Given the description of an element on the screen output the (x, y) to click on. 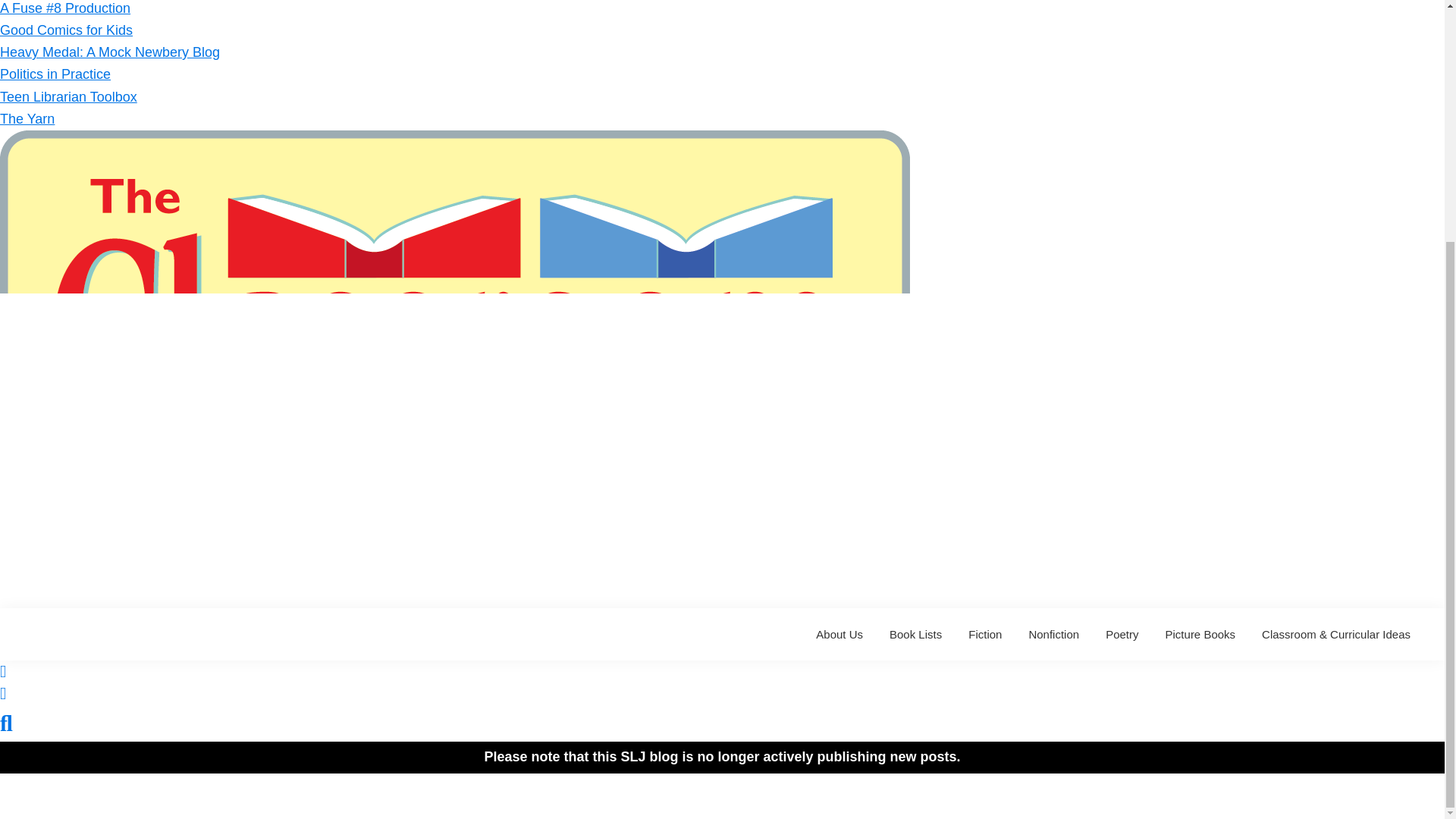
Nonfiction (1053, 634)
Teen Librarian Toolbox (68, 96)
About Us (840, 634)
The Yarn (27, 118)
Politics in Practice (55, 73)
Heavy Medal: A Mock Newbery Blog (109, 52)
Book Lists (915, 634)
Fiction (984, 634)
Good Comics for Kids (66, 29)
